Given the description of an element on the screen output the (x, y) to click on. 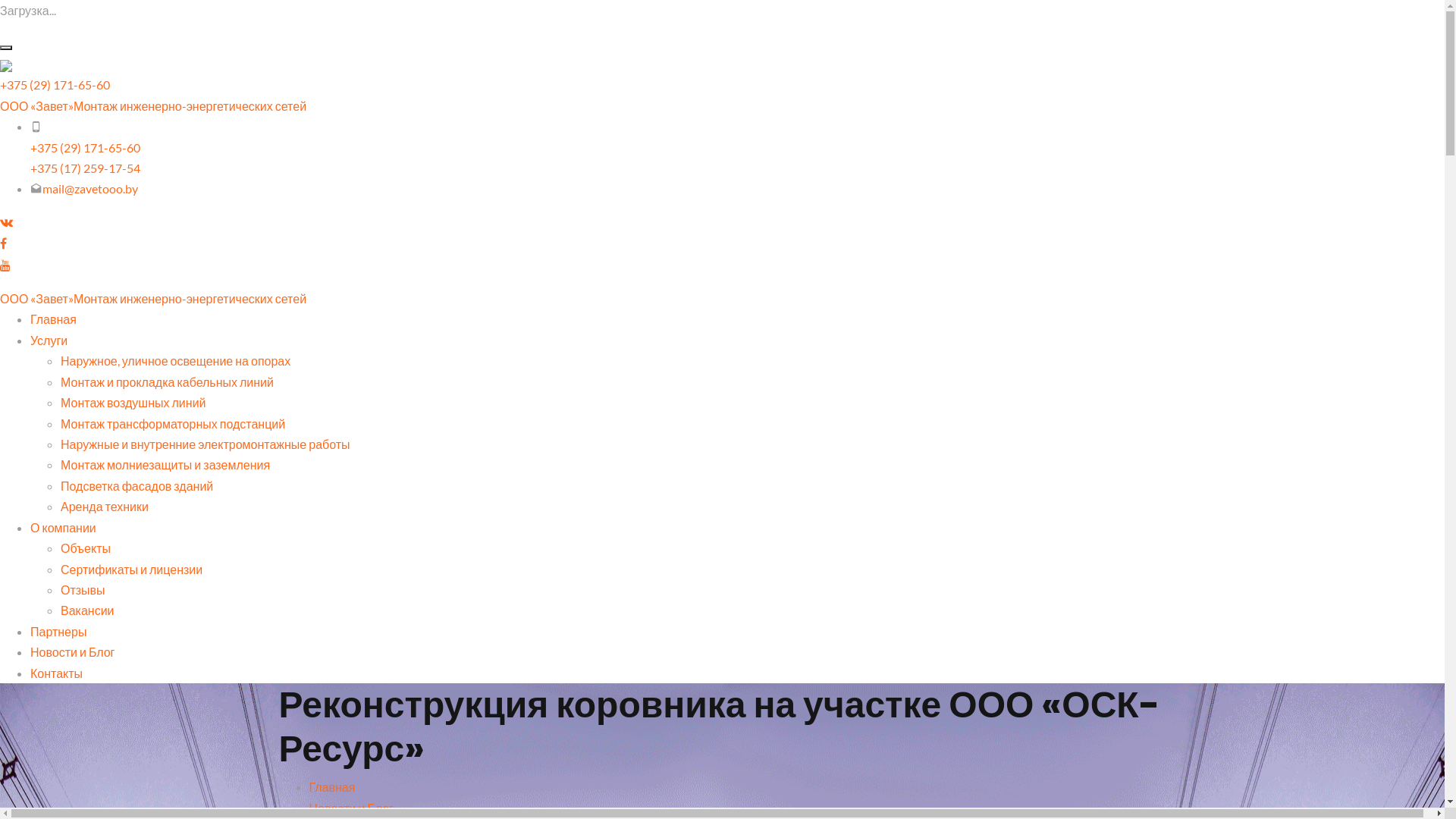
+375 (29) 171-65-60 Element type: text (54, 84)
mail@zavetooo.by Element type: text (90, 188)
+375 (29) 171-65-60 Element type: text (85, 147)
+375 (17) 259-17-54 Element type: text (85, 167)
